Given the description of an element on the screen output the (x, y) to click on. 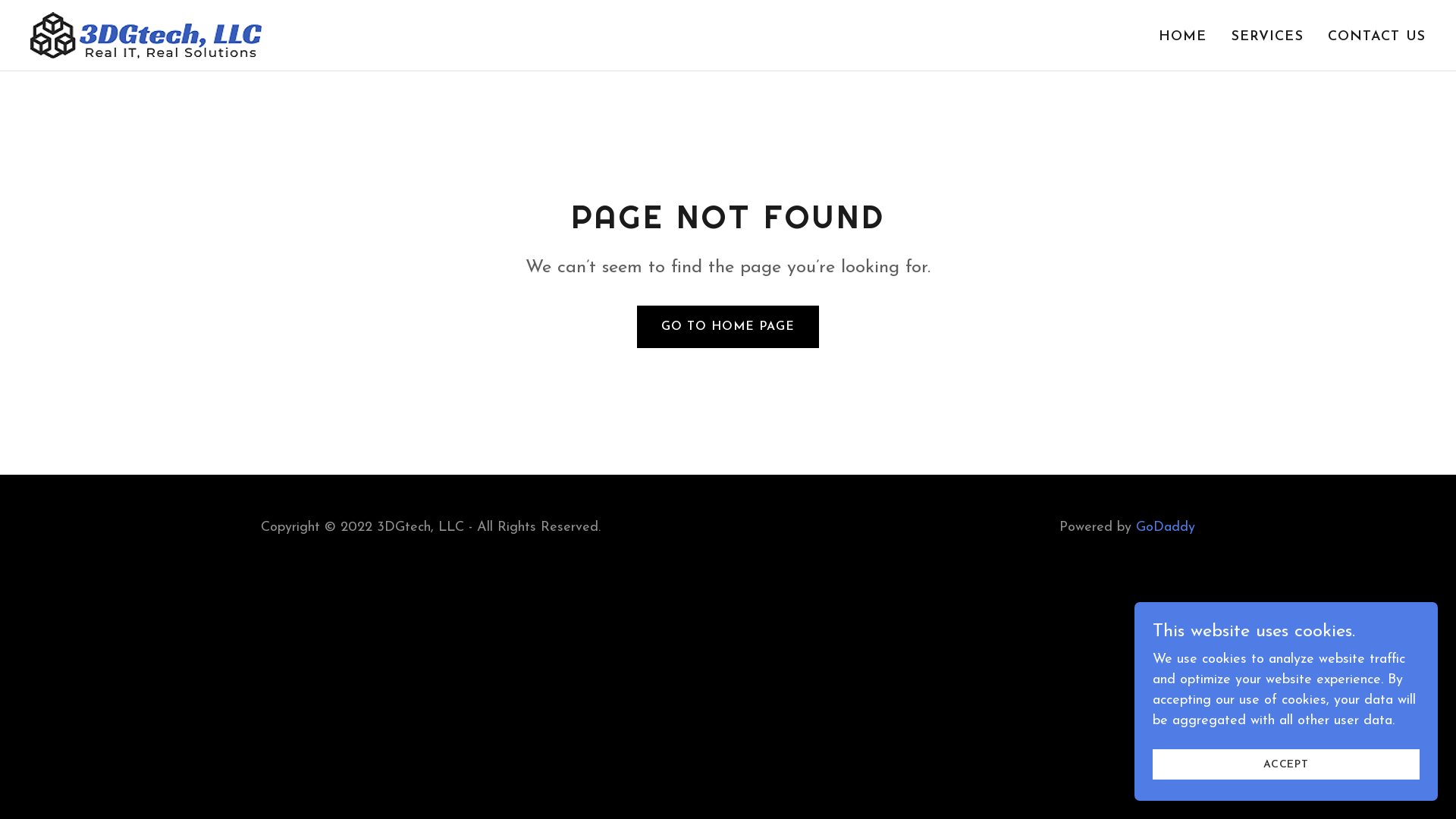
3DGtech, LLC Element type: hover (145, 34)
HOME Element type: text (1182, 36)
GO TO HOME PAGE Element type: text (728, 326)
GoDaddy Element type: text (1165, 527)
ACCEPT Element type: text (1285, 764)
SERVICES Element type: text (1267, 36)
CONTACT US Element type: text (1376, 36)
